Given the description of an element on the screen output the (x, y) to click on. 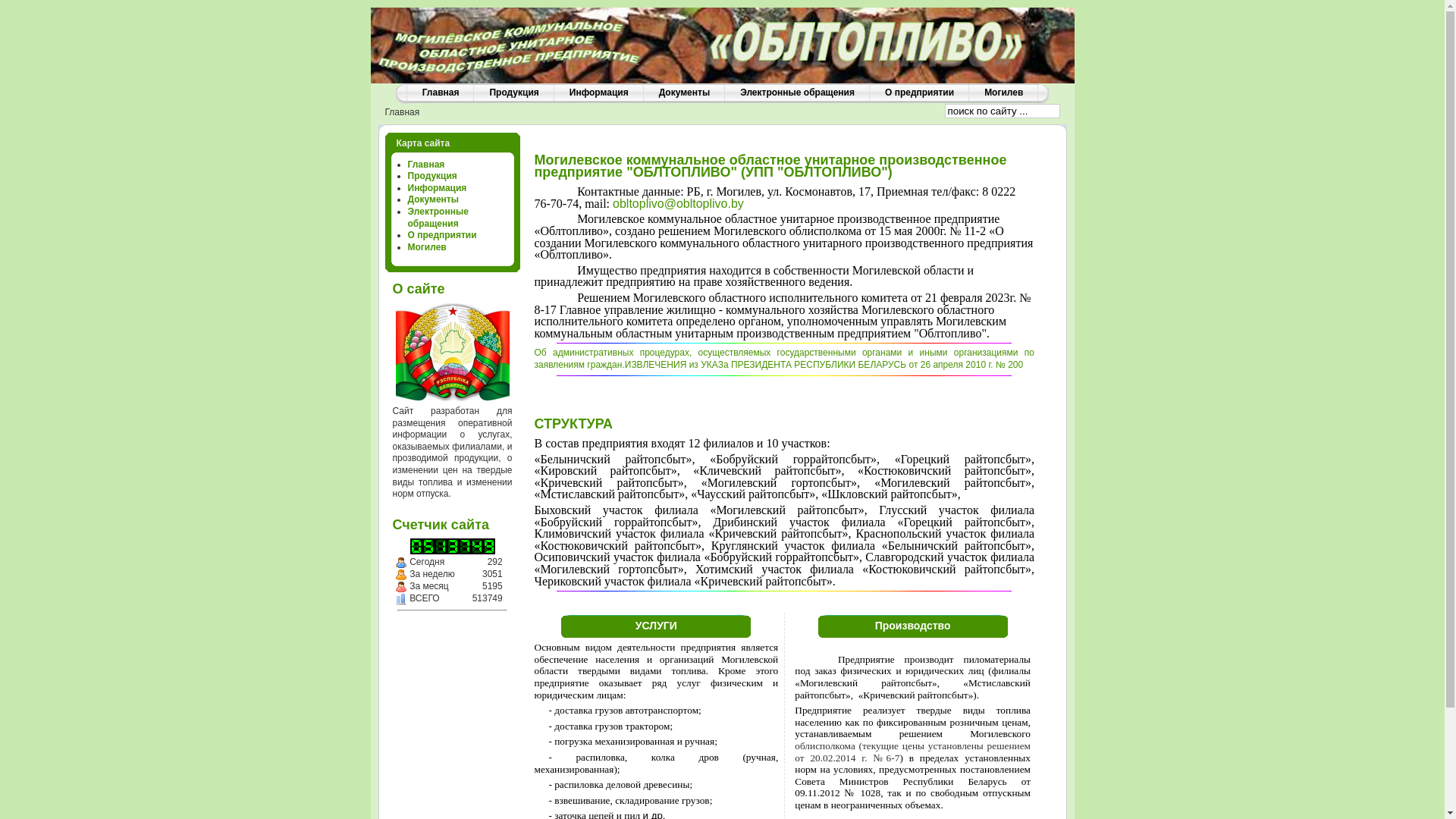
Vinaora Visitors Counter Element type: hover (451, 546)
obltoplivo@obltoplivo.by Element type: text (677, 203)
2023-11-25 Element type: hover (400, 562)
Vinaora Visitors Counter Element type: hover (415, 546)
Vinaora Visitors Counter Element type: hover (427, 546)
Vinaora Visitors Counter Element type: hover (439, 546)
2023-11-01 -> 2023-11-25 Element type: hover (400, 586)
2023-11-20 -> 2023-11-25 Element type: hover (400, 574)
Vinaora Visitors Counter Element type: hover (464, 546)
Vinaora Visitors Counter Element type: hover (488, 546)
Visitors Counter Element type: hover (400, 599)
Vinaora Visitors Counter Element type: hover (476, 546)
